Given the description of an element on the screen output the (x, y) to click on. 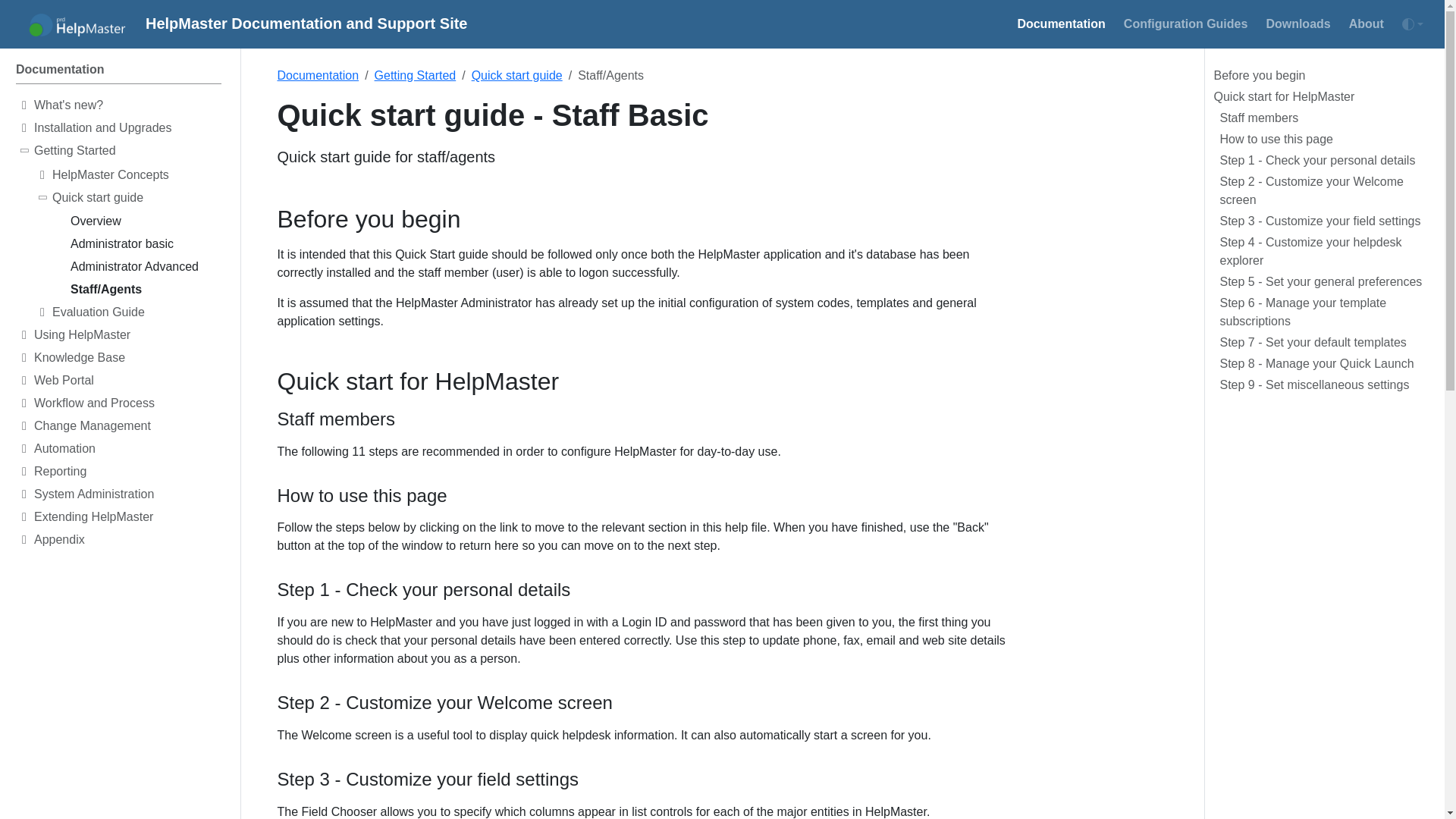
HelpMaster Documentation and Support Site (237, 24)
Installation and Upgrades (127, 129)
HelpMaster Documentation (118, 72)
Documentation (118, 72)
Configuration Guides (1222, 24)
Documentation (1185, 24)
About (1060, 24)
What's new? (1366, 24)
Downloads (127, 107)
